Given the description of an element on the screen output the (x, y) to click on. 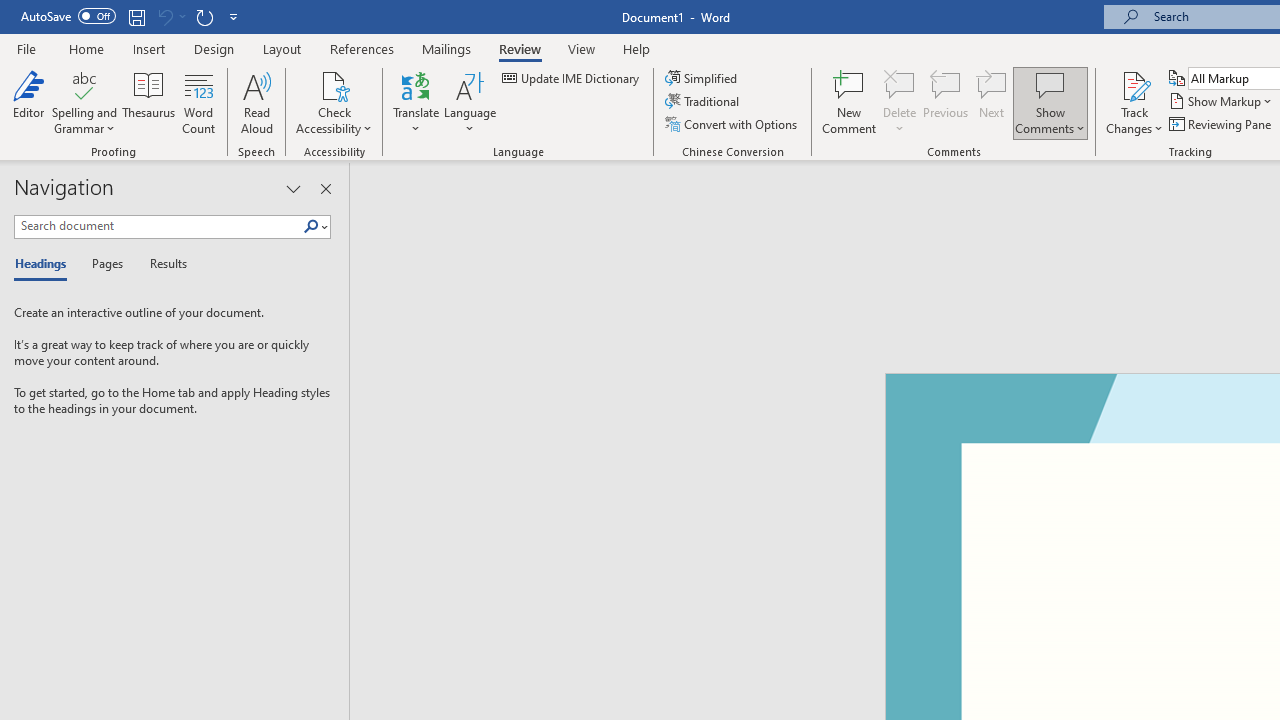
Read Aloud (256, 102)
Thesaurus... (148, 102)
Show Markup (1222, 101)
Spelling and Grammar (84, 84)
Close pane (325, 188)
Layout (282, 48)
Previous (946, 102)
Results (161, 264)
Can't Undo (170, 15)
Check Accessibility (334, 102)
